Given the description of an element on the screen output the (x, y) to click on. 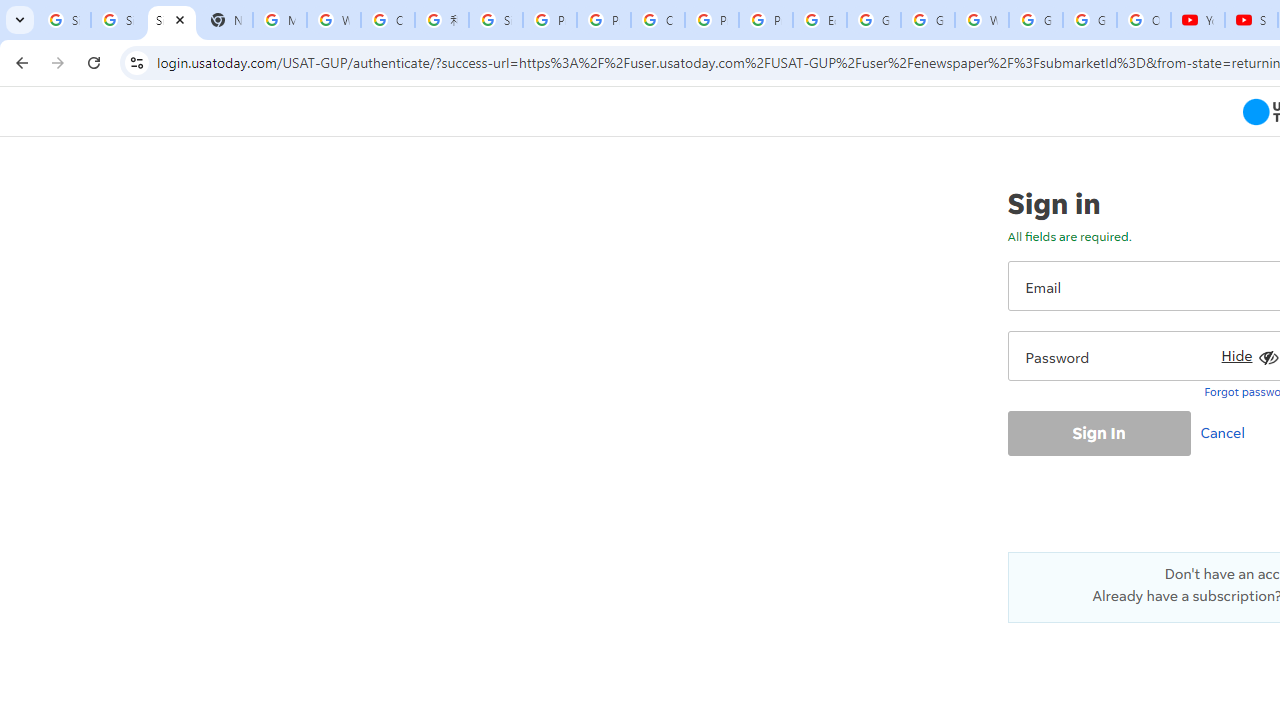
Hide (1247, 351)
Sign in - Google Accounts (117, 20)
View site information (136, 62)
Google Slides: Sign-in (874, 20)
Create your Google Account (657, 20)
Welcome to My Activity (981, 20)
Forward (57, 62)
Who is my administrator? - Google Account Help (333, 20)
Sign In - USA TODAY (171, 20)
